Given the description of an element on the screen output the (x, y) to click on. 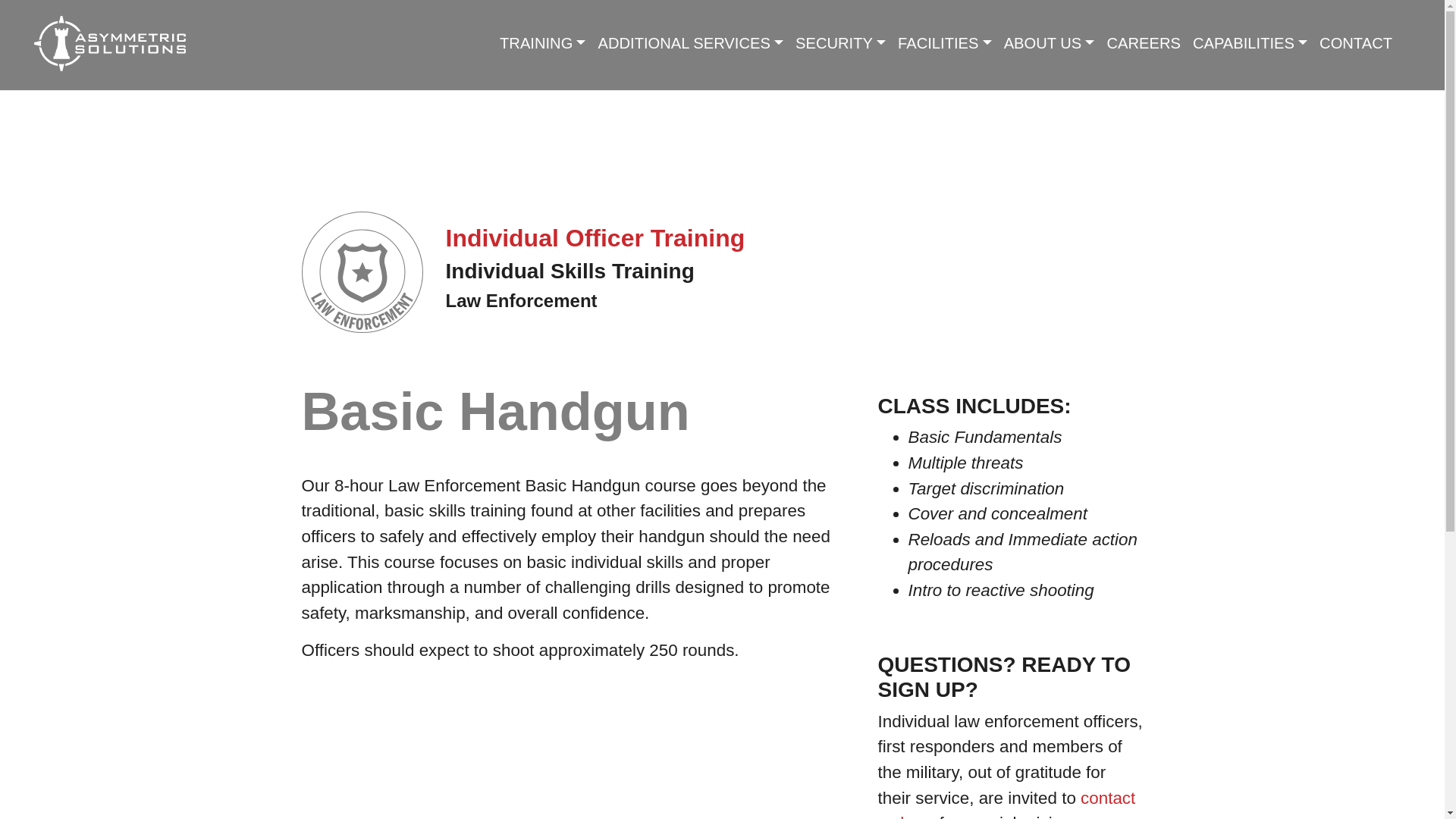
TRAINING (542, 42)
FACILITIES (944, 42)
CONTACT (1355, 42)
ADDITIONAL SERVICES (690, 42)
SECURITY (840, 42)
Home (109, 43)
CAREERS (1143, 42)
